Given the description of an element on the screen output the (x, y) to click on. 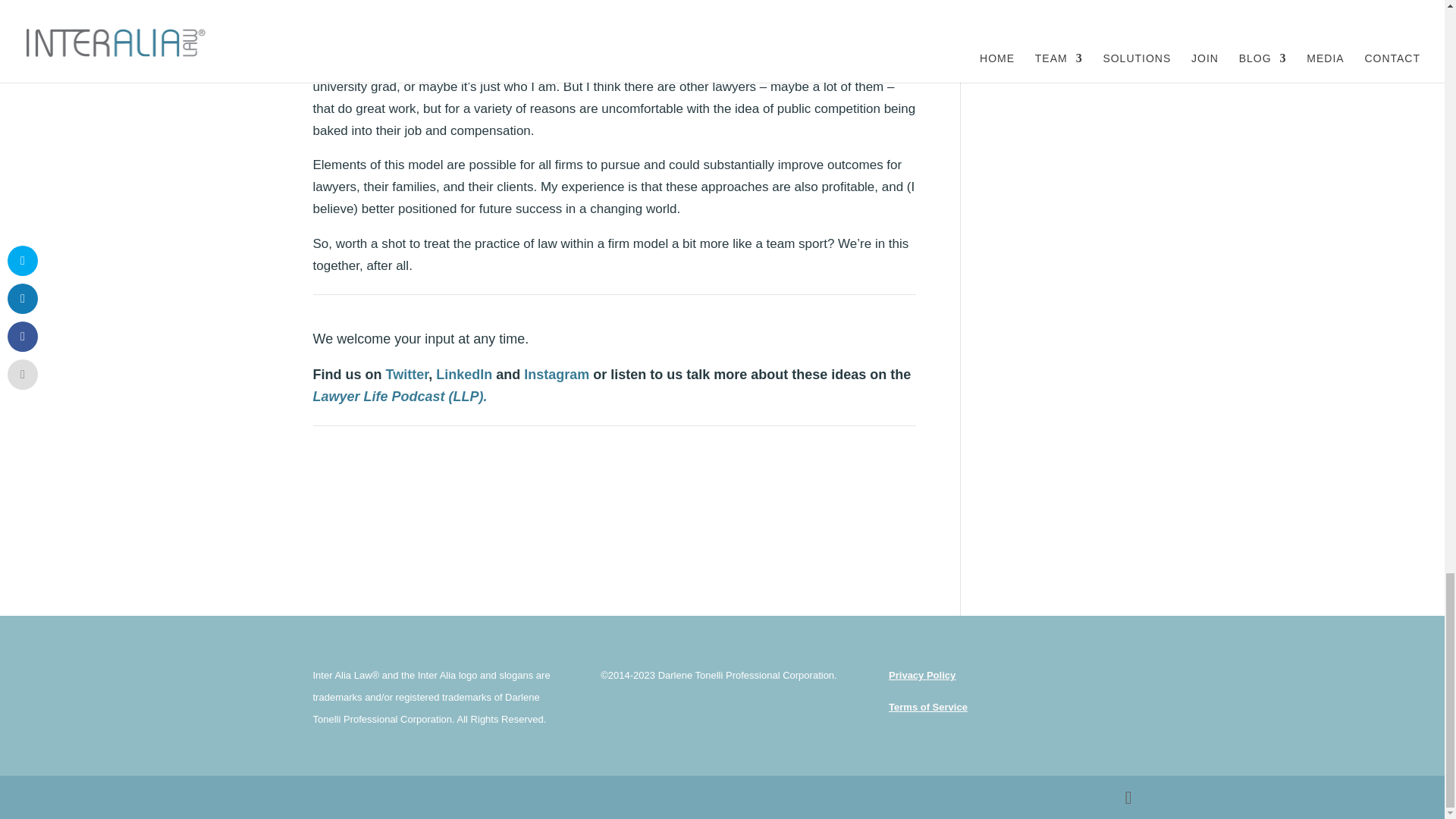
Instagram (556, 374)
LinkedIn (463, 374)
Twitter (406, 374)
